Given the description of an element on the screen output the (x, y) to click on. 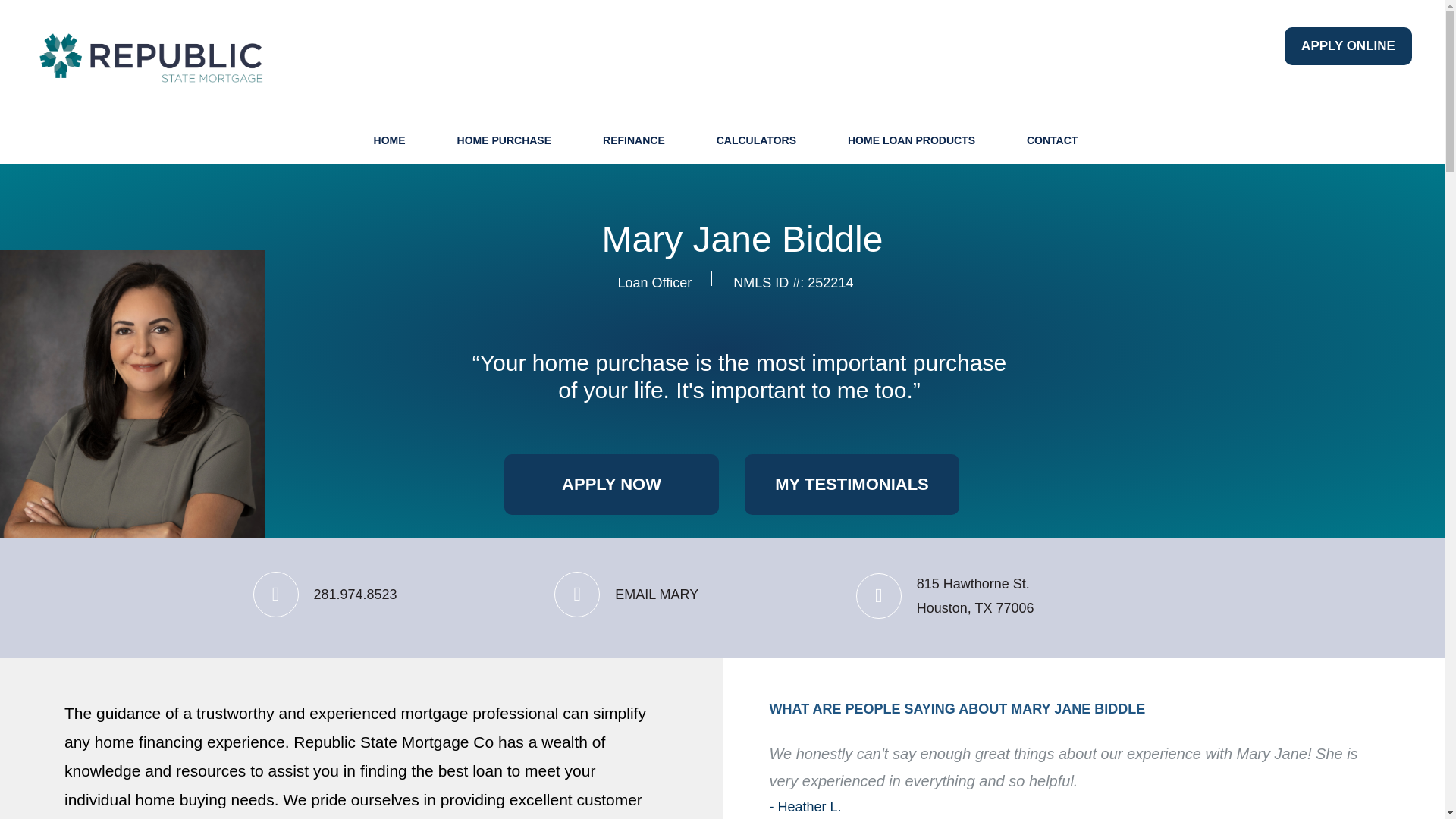
CONTACT (1051, 140)
REFINANCE (633, 140)
HOME PURCHASE (504, 140)
MY TESTIMONIALS (851, 484)
APPLY NOW (944, 595)
APPLY ONLINE (611, 484)
HOME LOAN PRODUCTS (1348, 46)
EMAIL MARY (911, 140)
CALCULATORS (626, 594)
